Given the description of an element on the screen output the (x, y) to click on. 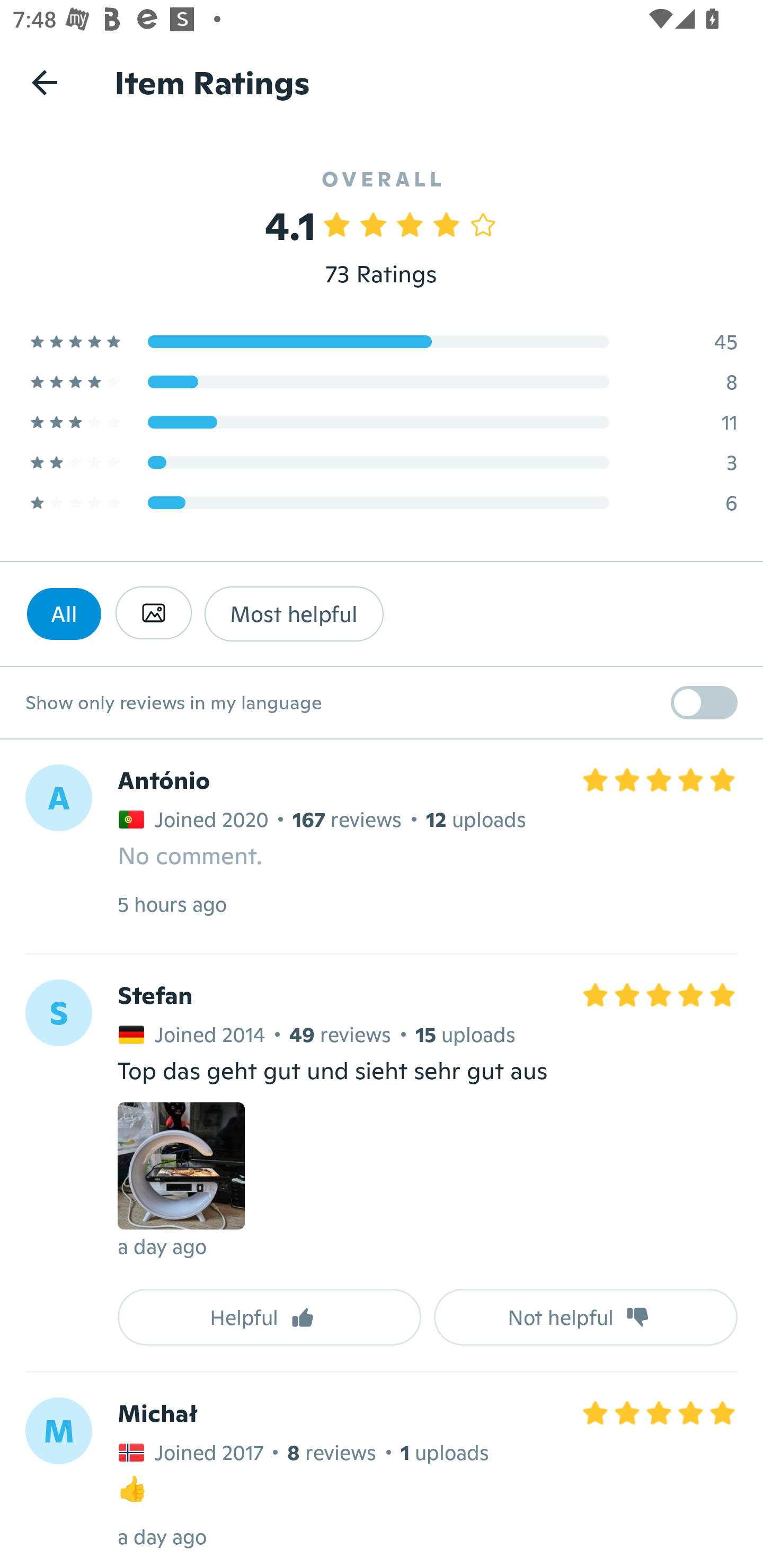
Navigate up (44, 82)
5 Star Rating 45 (381, 341)
4 Star Rating 8 (381, 381)
3 Star Rating 11 (381, 421)
2 Star Rating 3 (381, 462)
1 Star Rating 6 (381, 502)
All (64, 613)
Has photo (153, 612)
Most helpful (293, 613)
Show only reviews in my language (381, 702)
A (58, 798)
António (163, 780)
5 hours ago (171, 903)
S (58, 1012)
Stefan (155, 995)
a day ago (162, 1246)
Helpful (269, 1316)
Not helpful (585, 1316)
M (58, 1430)
Michał (157, 1412)
a day ago (162, 1536)
